Given the description of an element on the screen output the (x, y) to click on. 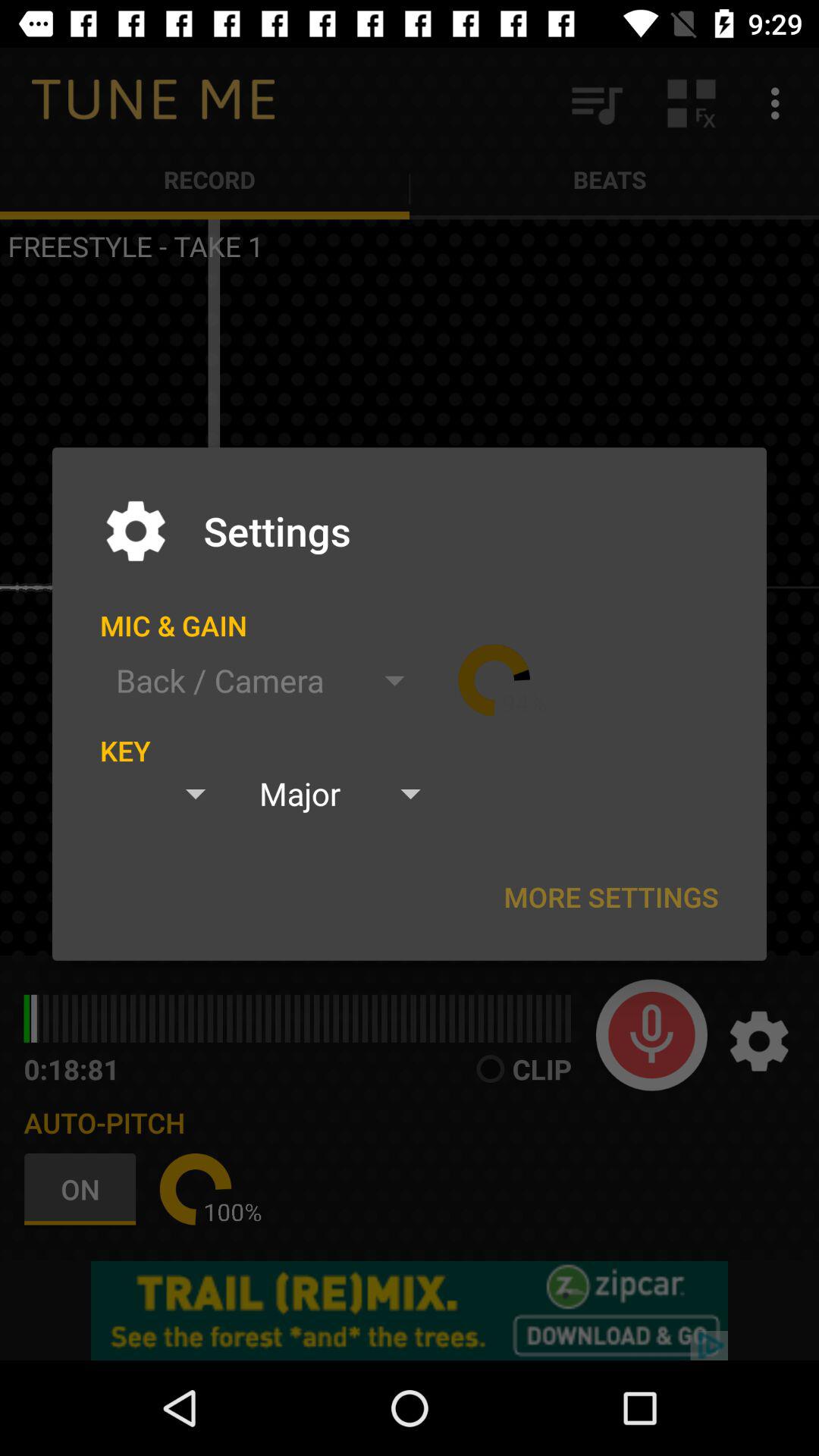
launch item below auto-pitch icon (195, 1189)
